Given the description of an element on the screen output the (x, y) to click on. 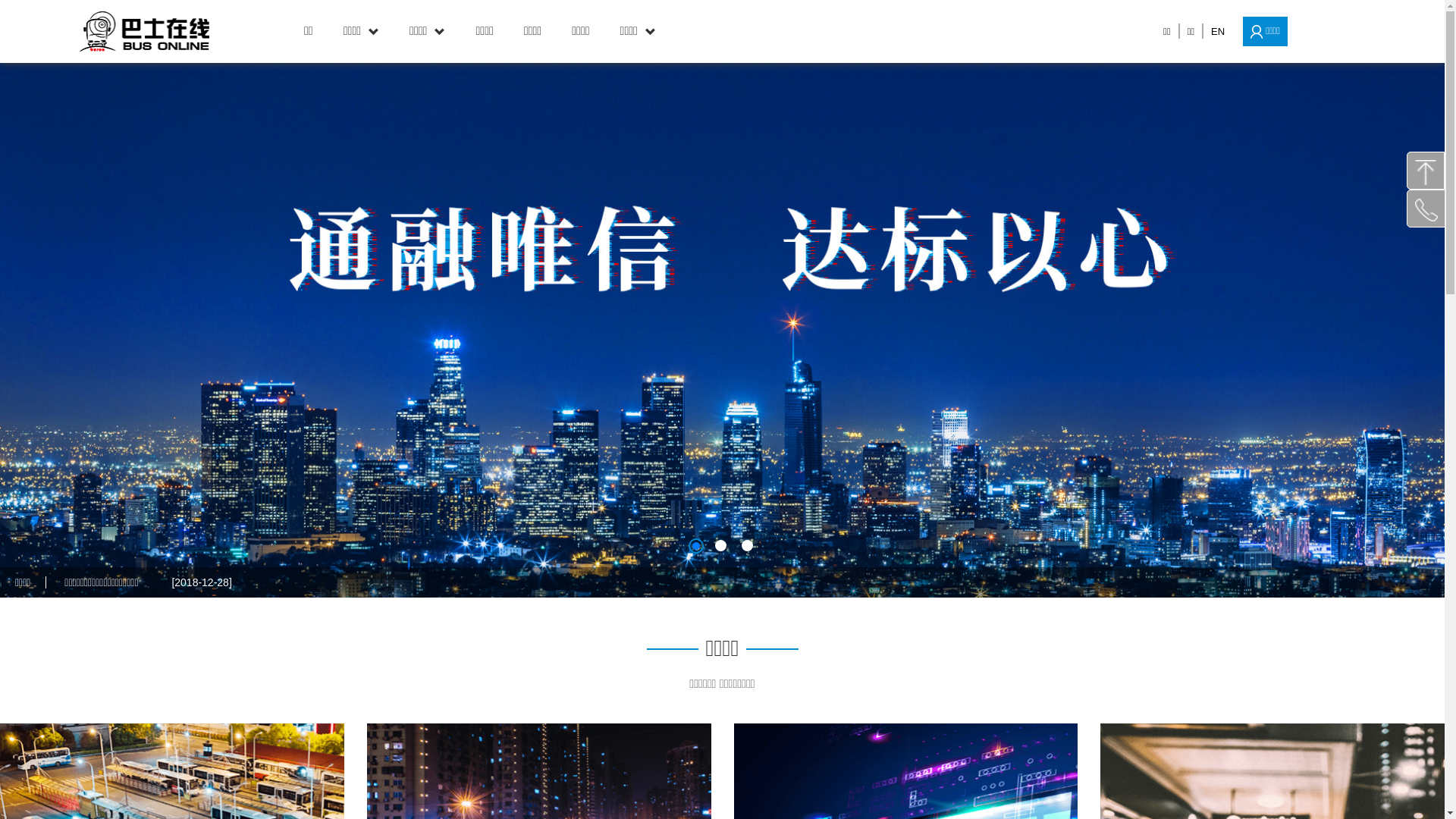
EN Element type: text (1217, 31)
